Given the description of an element on the screen output the (x, y) to click on. 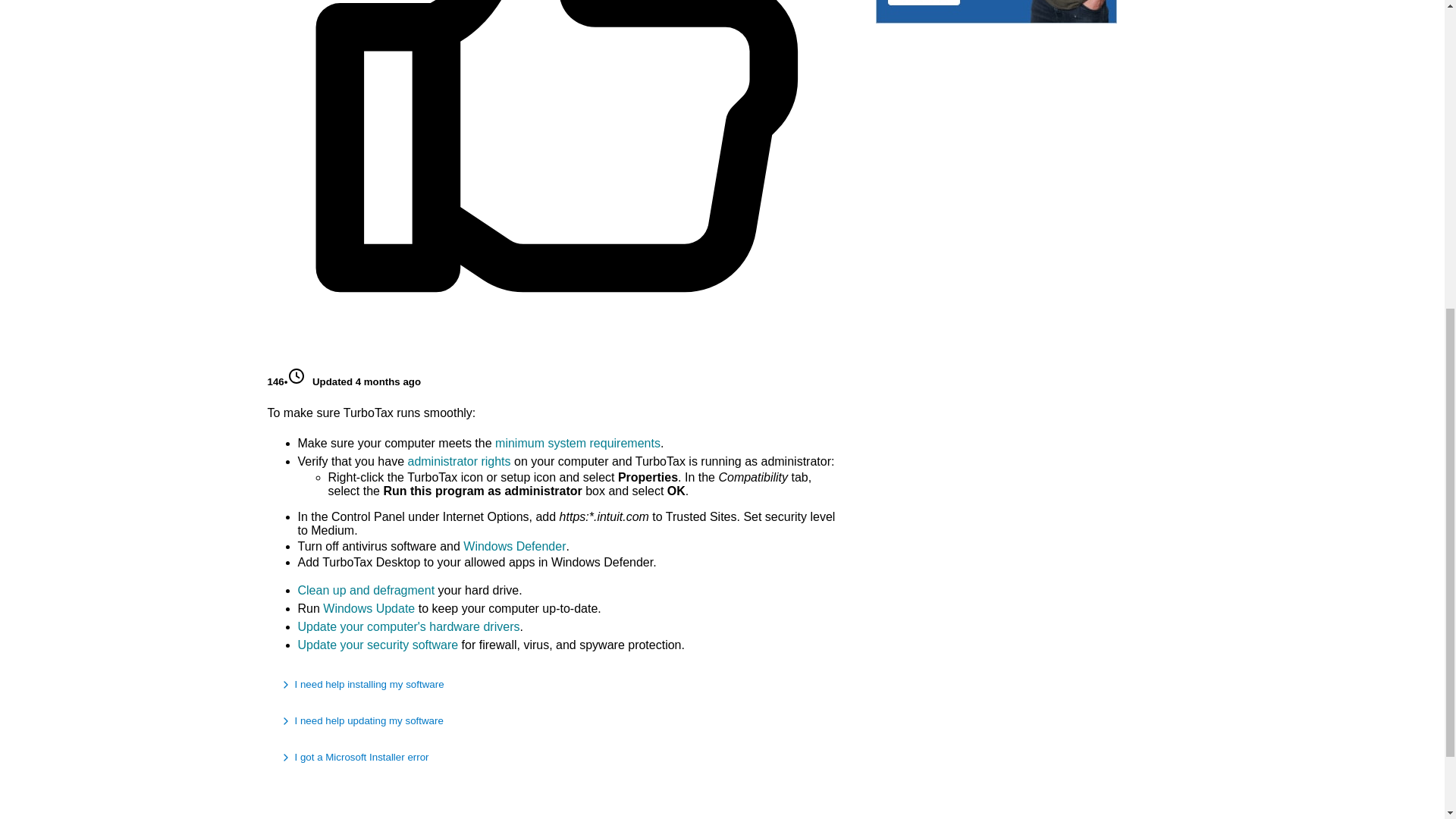
I need help installing my software (555, 684)
Windows Update (368, 608)
I need help updating my software (555, 720)
Windows Defender (514, 545)
Clean up and defragment (365, 590)
Update your computer's hardware drivers (408, 626)
administrator rights (459, 461)
Update your security software (377, 644)
I got a Microsoft Installer error (555, 757)
minimum system requirements (578, 442)
